Given the description of an element on the screen output the (x, y) to click on. 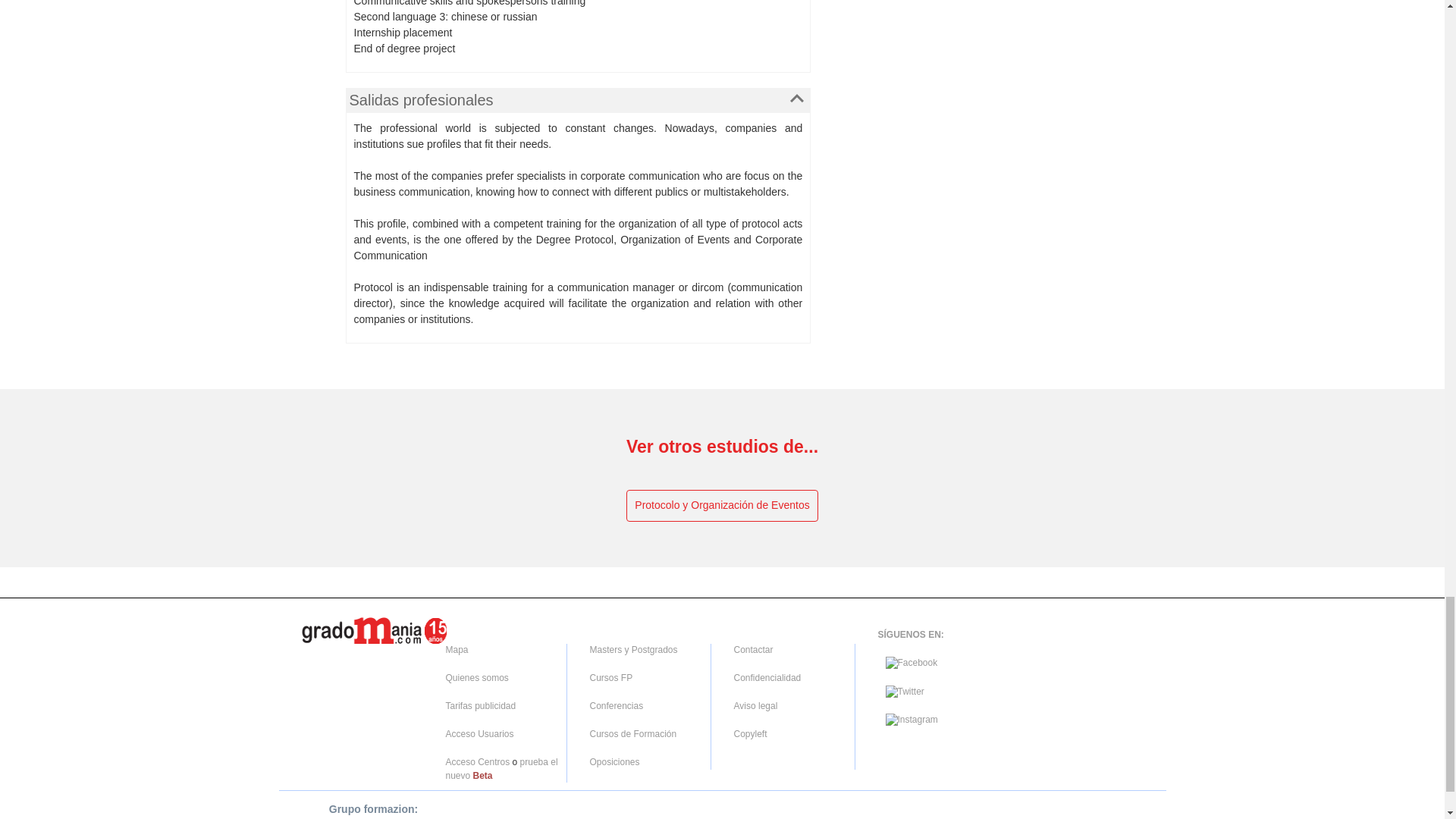
Mapa (456, 649)
Contactar (753, 649)
Confidencialidad (767, 677)
prueba el nuevo Beta (501, 768)
Masters y Postgrados (633, 649)
Oposiciones (614, 761)
Acceso Centros (478, 761)
Conferencias (616, 706)
Copyleft (750, 733)
Cursos FP (611, 677)
